Given the description of an element on the screen output the (x, y) to click on. 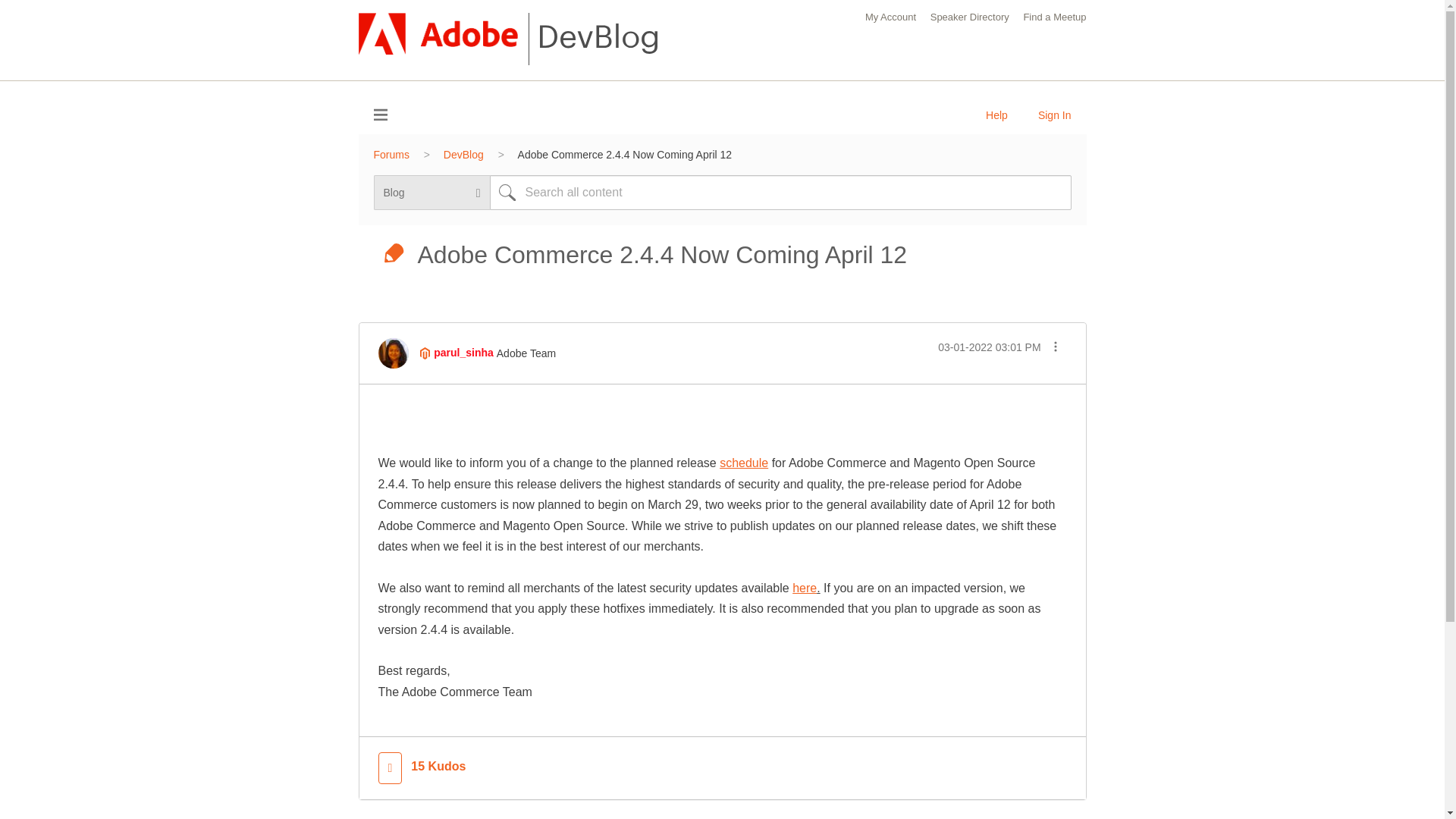
Click here to see who gave kudos to this post. (437, 766)
My Account (889, 17)
Posted on (989, 347)
DevBlog (463, 154)
Sign In (1054, 115)
Search (780, 192)
Blog (394, 254)
Help (997, 115)
Search (506, 192)
15 Kudos (437, 766)
Show option menu (1054, 348)
Adobe Team (424, 353)
